Given the description of an element on the screen output the (x, y) to click on. 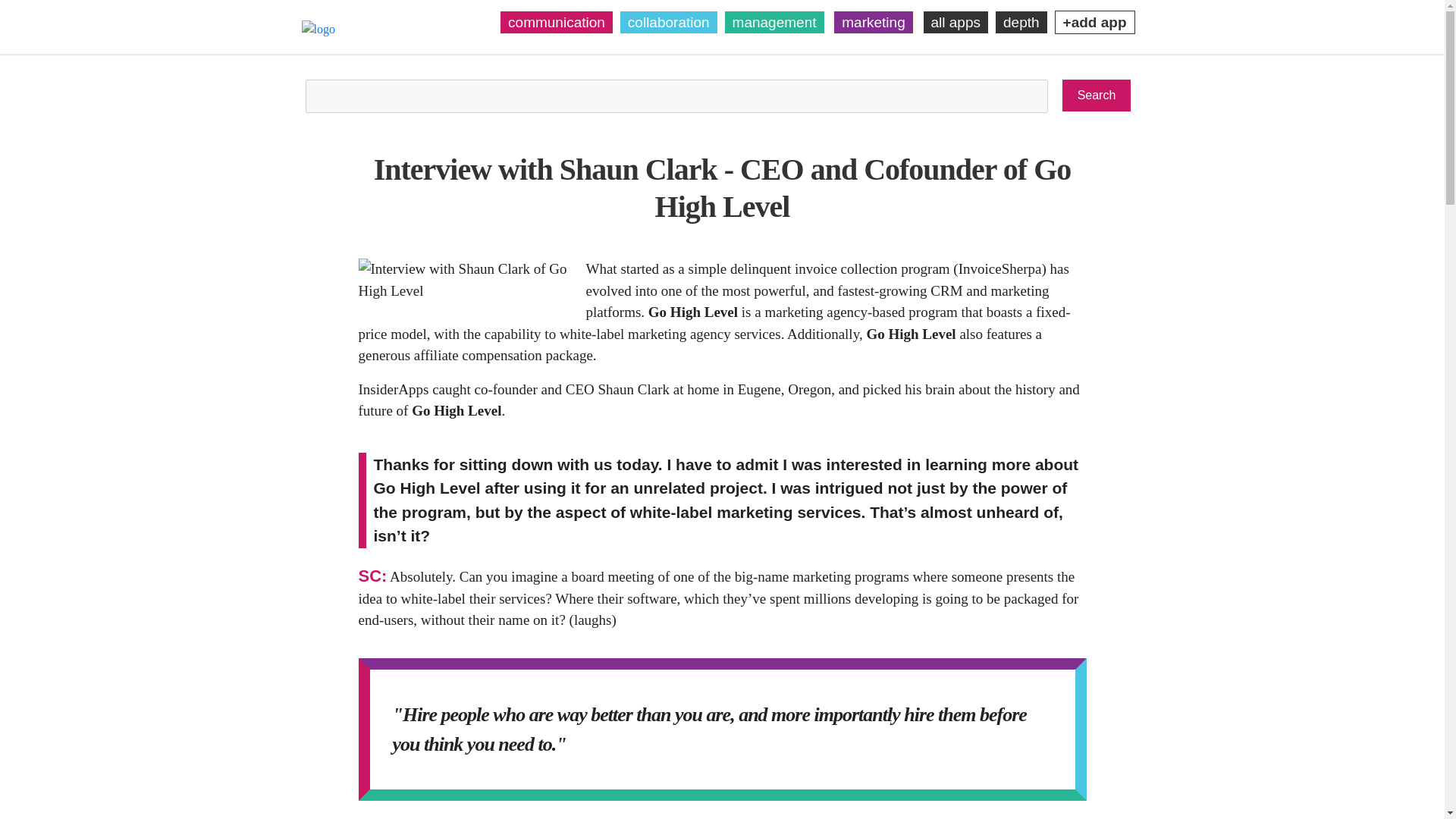
communication (556, 22)
marketing (873, 22)
all apps (955, 22)
management (774, 22)
Search (1096, 95)
collaboration (668, 22)
depth (1020, 22)
Search (1096, 95)
